Given the description of an element on the screen output the (x, y) to click on. 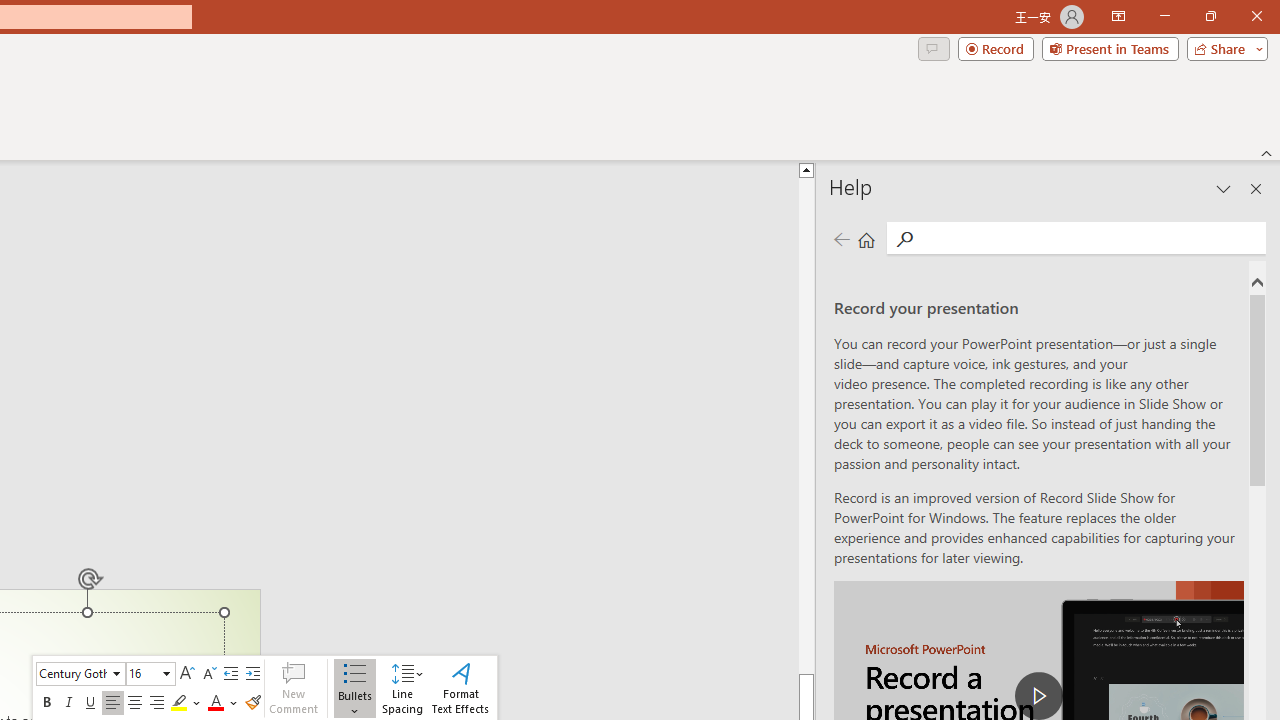
Format Text Effects... (460, 687)
Class: NetUITextbox (141, 673)
